Given the description of an element on the screen output the (x, y) to click on. 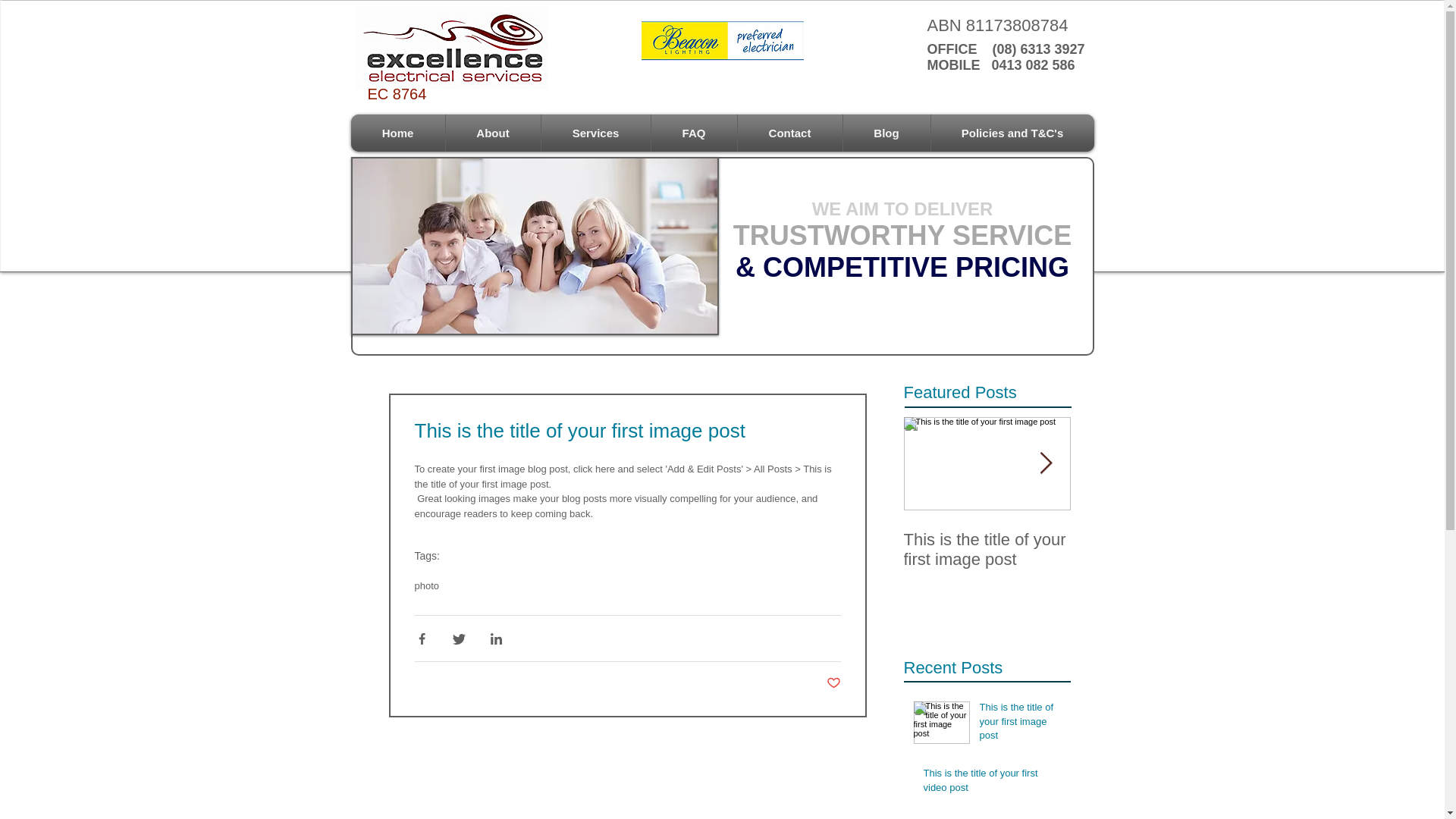
photo Element type: text (426, 586)
This is the title of your first video post Element type: text (1153, 549)
Services Element type: text (595, 132)
About Element type: text (492, 132)
FAQ Element type: text (694, 132)
Post not marked as liked Element type: text (833, 683)
Home Element type: text (397, 132)
This is the title of your first image post Element type: text (1020, 723)
This is the title of your first image post Element type: text (986, 549)
Contact Element type: text (789, 132)
Blog Element type: text (885, 132)
Twitter Follow Element type: hover (1024, 95)
Policies and T&C's Element type: text (1011, 132)
This is the title of your first video post Element type: text (992, 783)
